Given the description of an element on the screen output the (x, y) to click on. 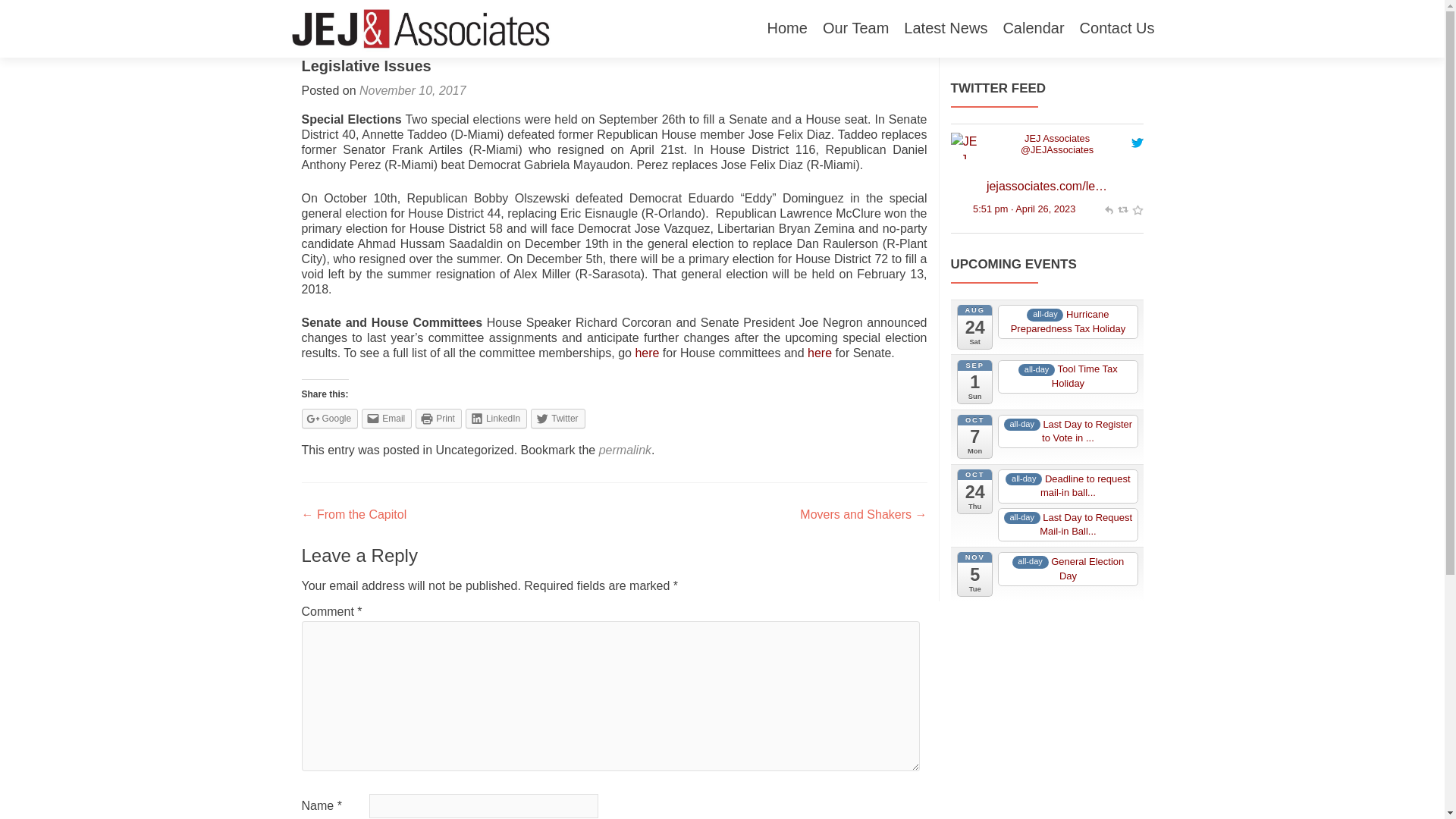
Email (386, 418)
Google (329, 418)
Home (787, 28)
JEJ Associates (1056, 149)
Twitter (558, 418)
JEJ Associates (963, 144)
permalink (624, 449)
JEJ Associates (1057, 138)
November 10, 2017 (412, 90)
Click to share on Twitter (558, 418)
